Given the description of an element on the screen output the (x, y) to click on. 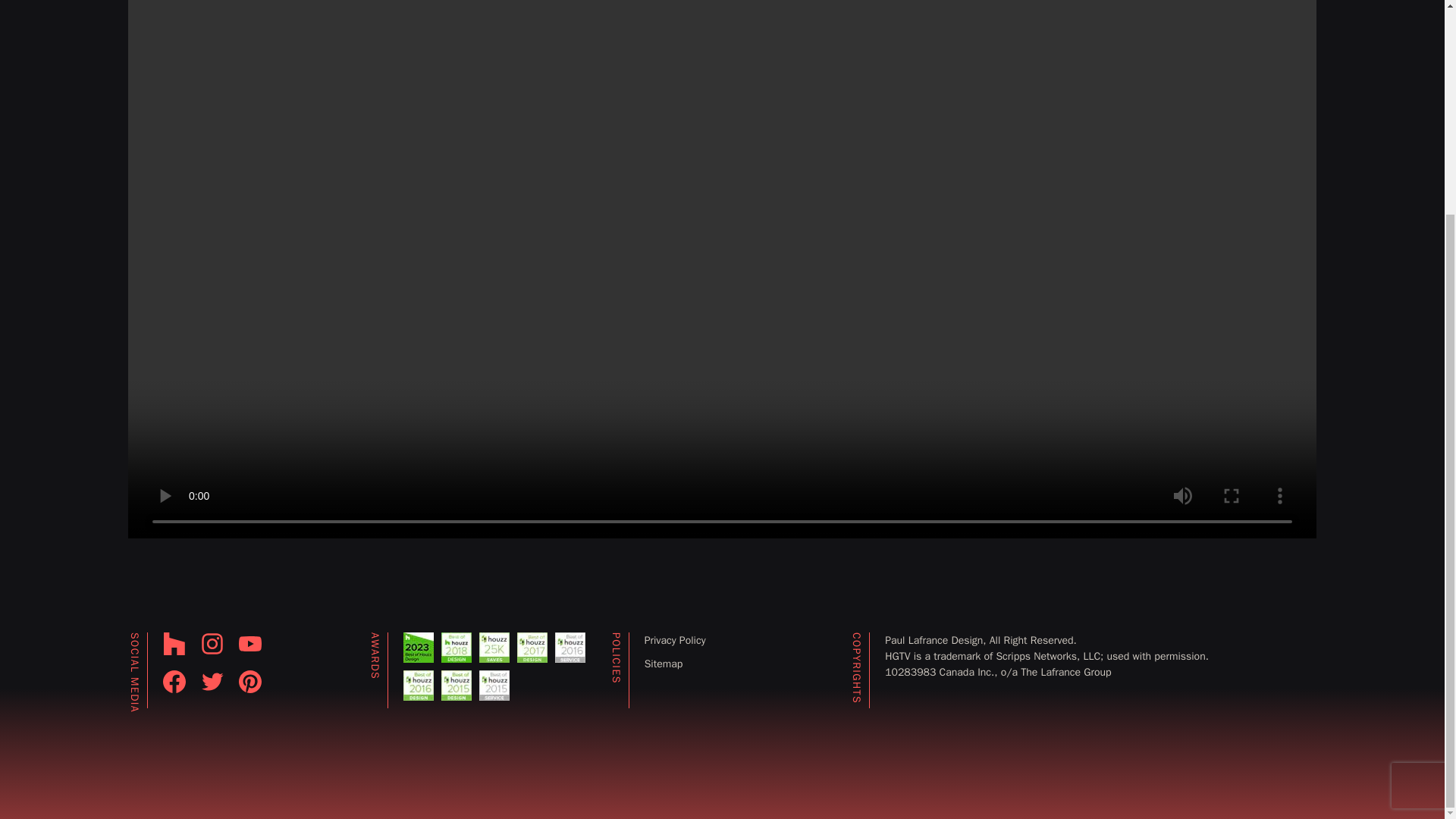
Privacy Policy (675, 640)
Sitemap (663, 663)
